Given the description of an element on the screen output the (x, y) to click on. 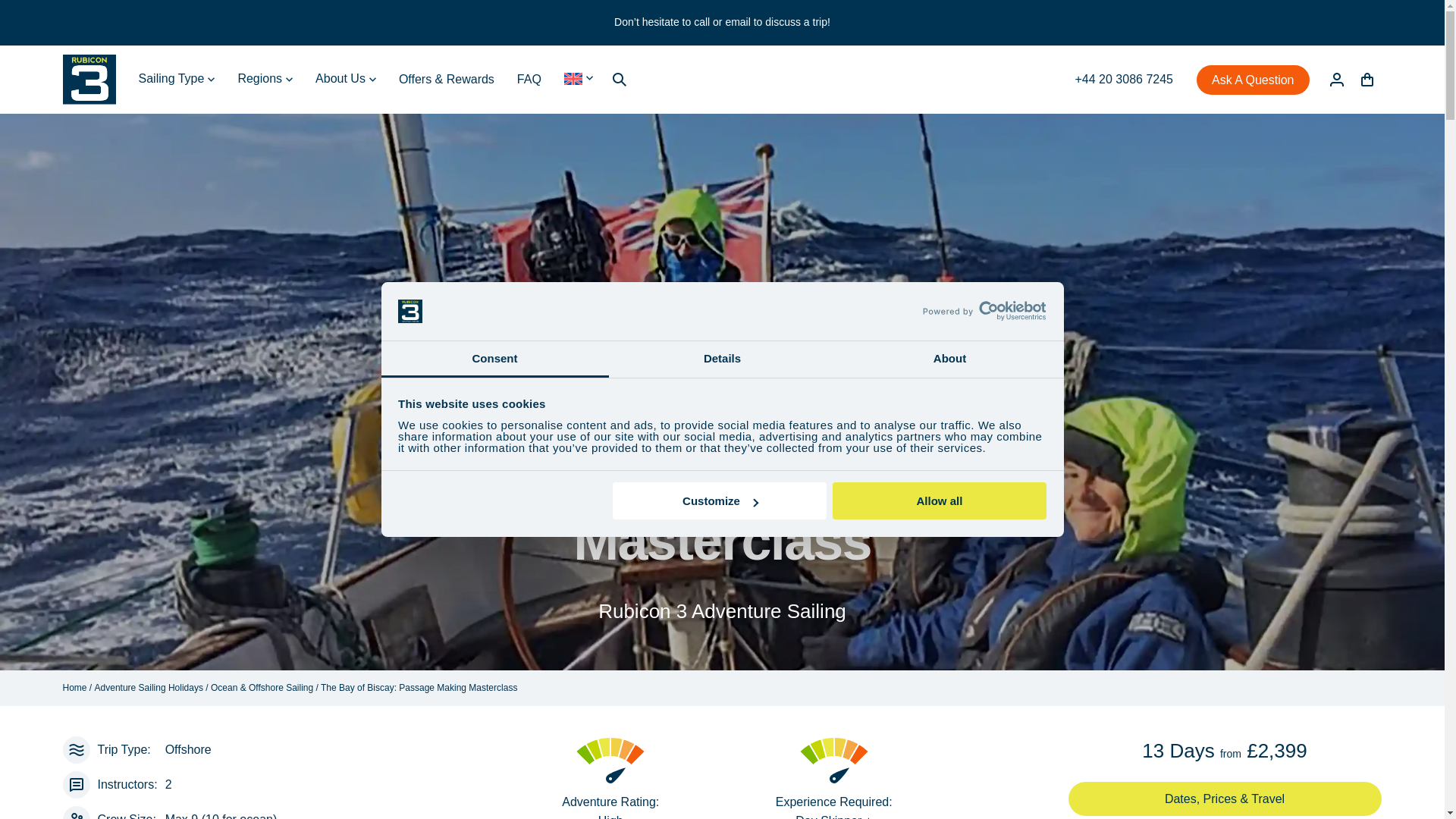
Details (721, 359)
About (948, 359)
Consent (494, 359)
